Given the description of an element on the screen output the (x, y) to click on. 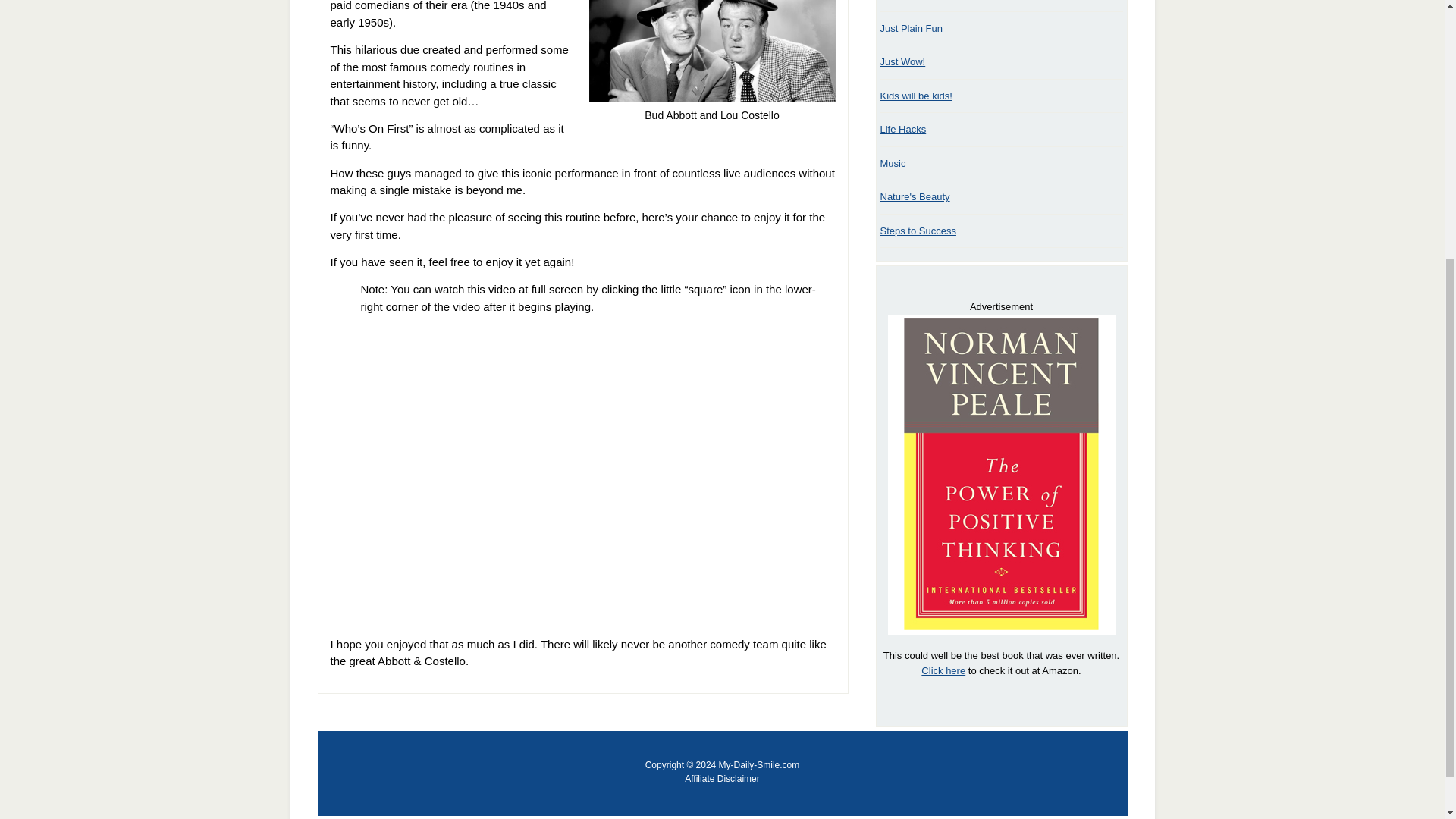
Nature's Beauty (914, 196)
Steps to Success (917, 230)
Kids will be kids! (915, 95)
Music (892, 163)
Life Hacks (902, 129)
Affiliate Disclaimer (721, 778)
Just Plain Fun (910, 28)
Click here (943, 670)
Just Wow! (901, 61)
